Given the description of an element on the screen output the (x, y) to click on. 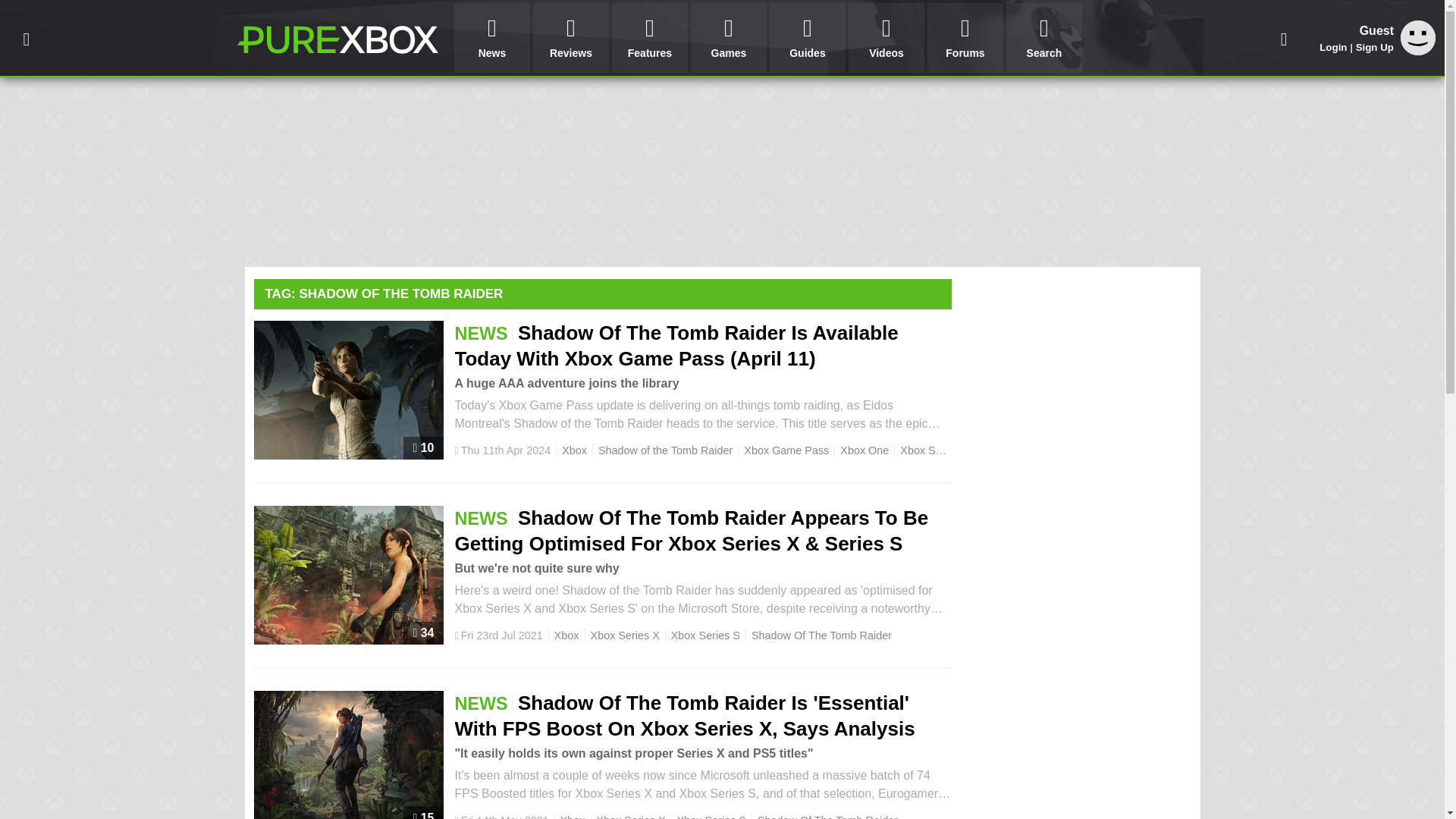
Guest (1417, 37)
News (491, 37)
Guest (1417, 51)
Shadow of The Tomb Raider News - Pure Xbox (336, 39)
Search (1043, 37)
Guides (807, 37)
Shadow of The Tomb Raider News - Pure Xbox (336, 39)
Sign Up (1374, 47)
Games (728, 37)
Login (1332, 47)
Forums (965, 37)
Reviews (570, 37)
Videos (886, 37)
Share This Page (1283, 37)
Features (649, 37)
